Given the description of an element on the screen output the (x, y) to click on. 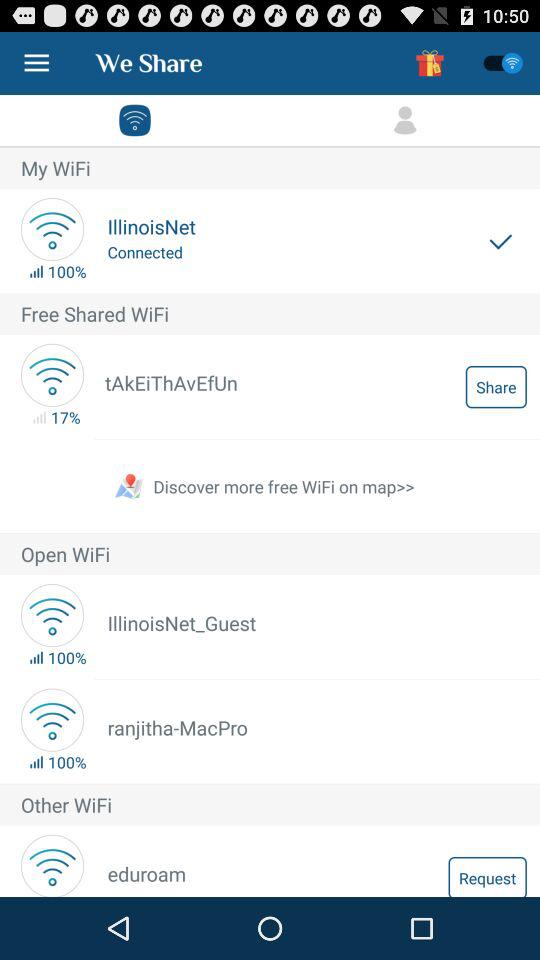
press the share icon (495, 386)
